Given the description of an element on the screen output the (x, y) to click on. 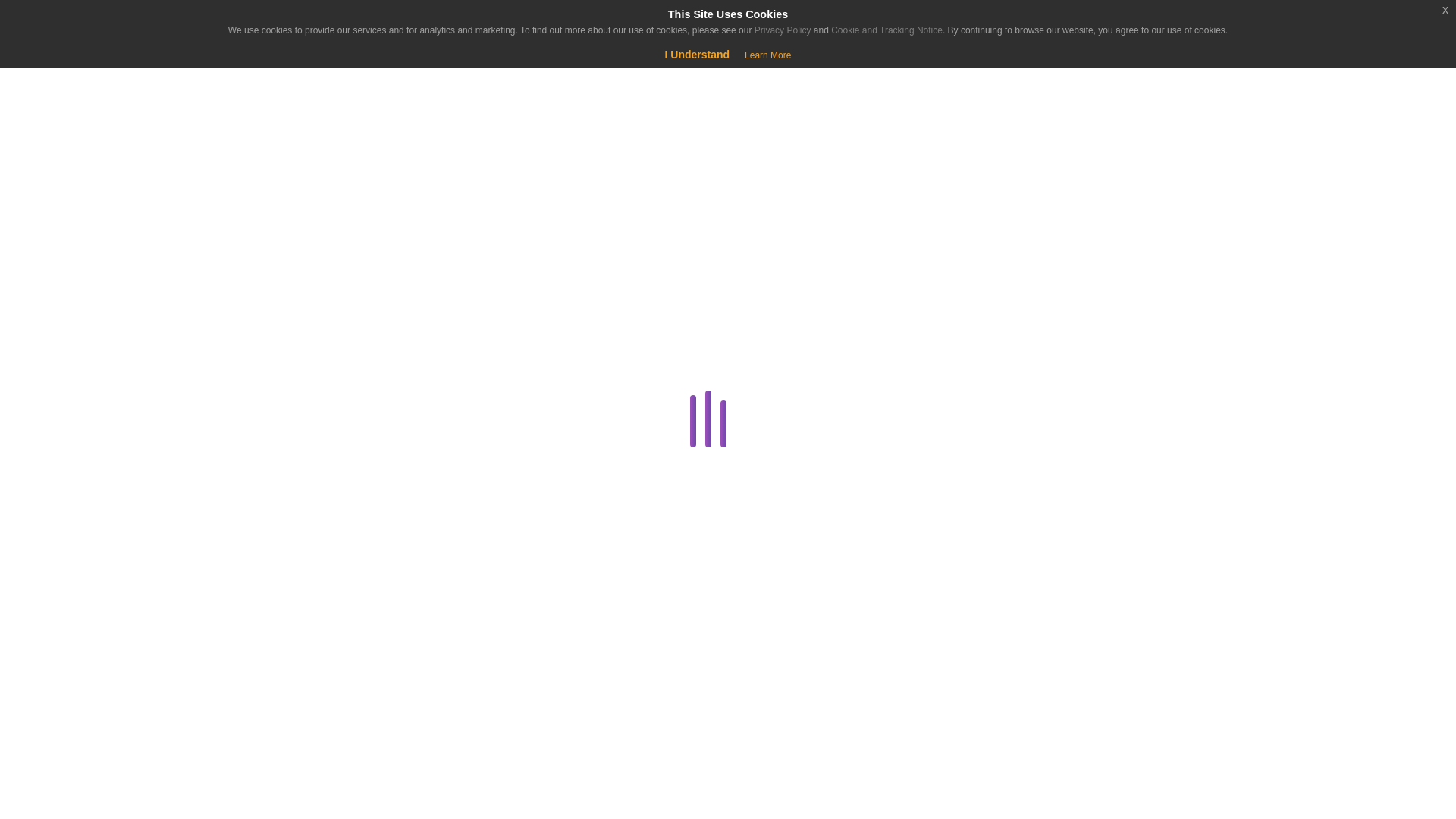
Hosting Dashboard (281, 713)
Shopping Cart (59, 76)
Dedicated Server Guides (281, 495)
cPanel (281, 422)
Software (281, 786)
General (281, 677)
Affiliates (283, 312)
Databases (281, 458)
FTP (283, 640)
Email (281, 604)
Store (94, 176)
Domains and DNS (281, 531)
Colocation Guides (283, 385)
Domains API (283, 567)
Linux Administration (281, 750)
